Given the description of an element on the screen output the (x, y) to click on. 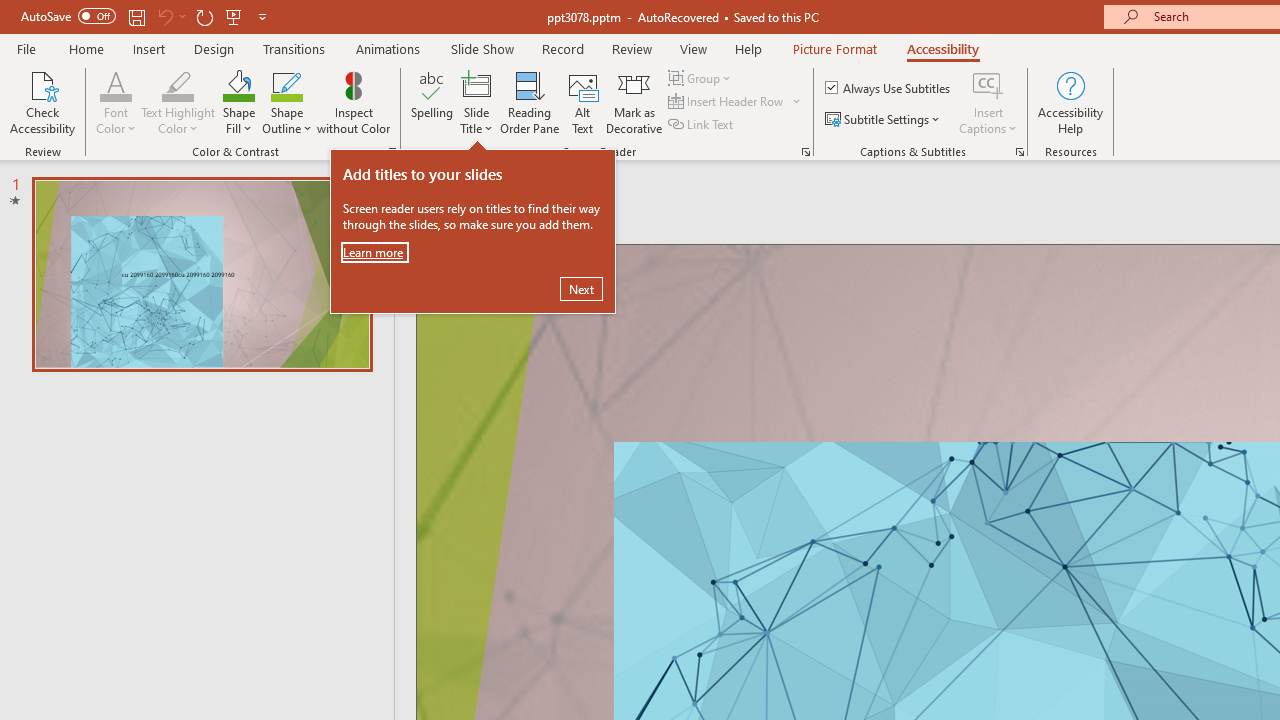
Reading Order Pane (529, 102)
Mark as Decorative (634, 102)
Accessibility Help (1070, 102)
Insert Header Row (735, 101)
Slide Title (476, 84)
Shape Outline Green, Accent 1 (286, 84)
Always Use Subtitles (889, 87)
